Given the description of an element on the screen output the (x, y) to click on. 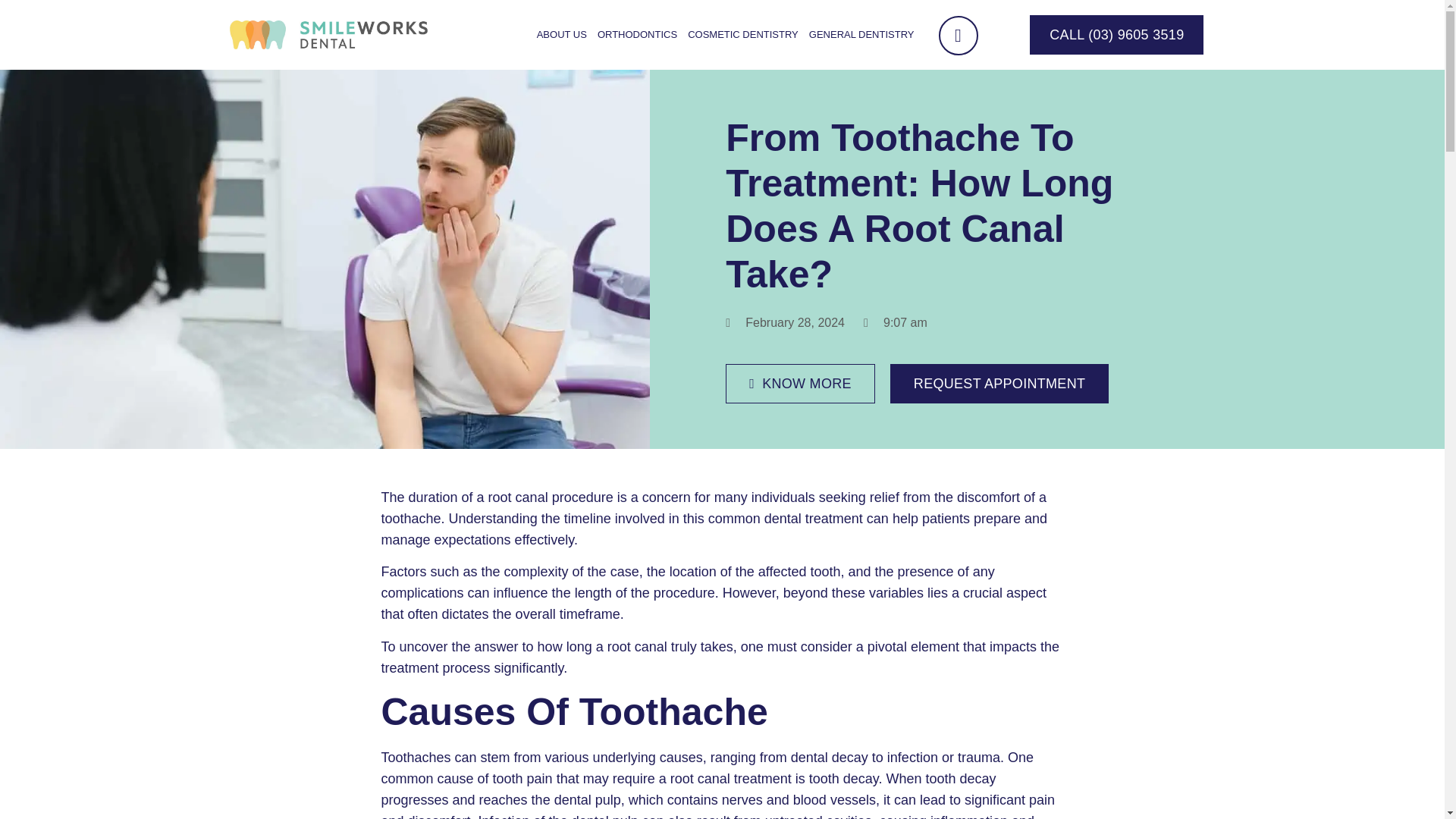
ABOUT US (561, 34)
ORTHODONTICS (637, 34)
COSMETIC DENTISTRY (742, 34)
GENERAL DENTISTRY (861, 34)
